Given the description of an element on the screen output the (x, y) to click on. 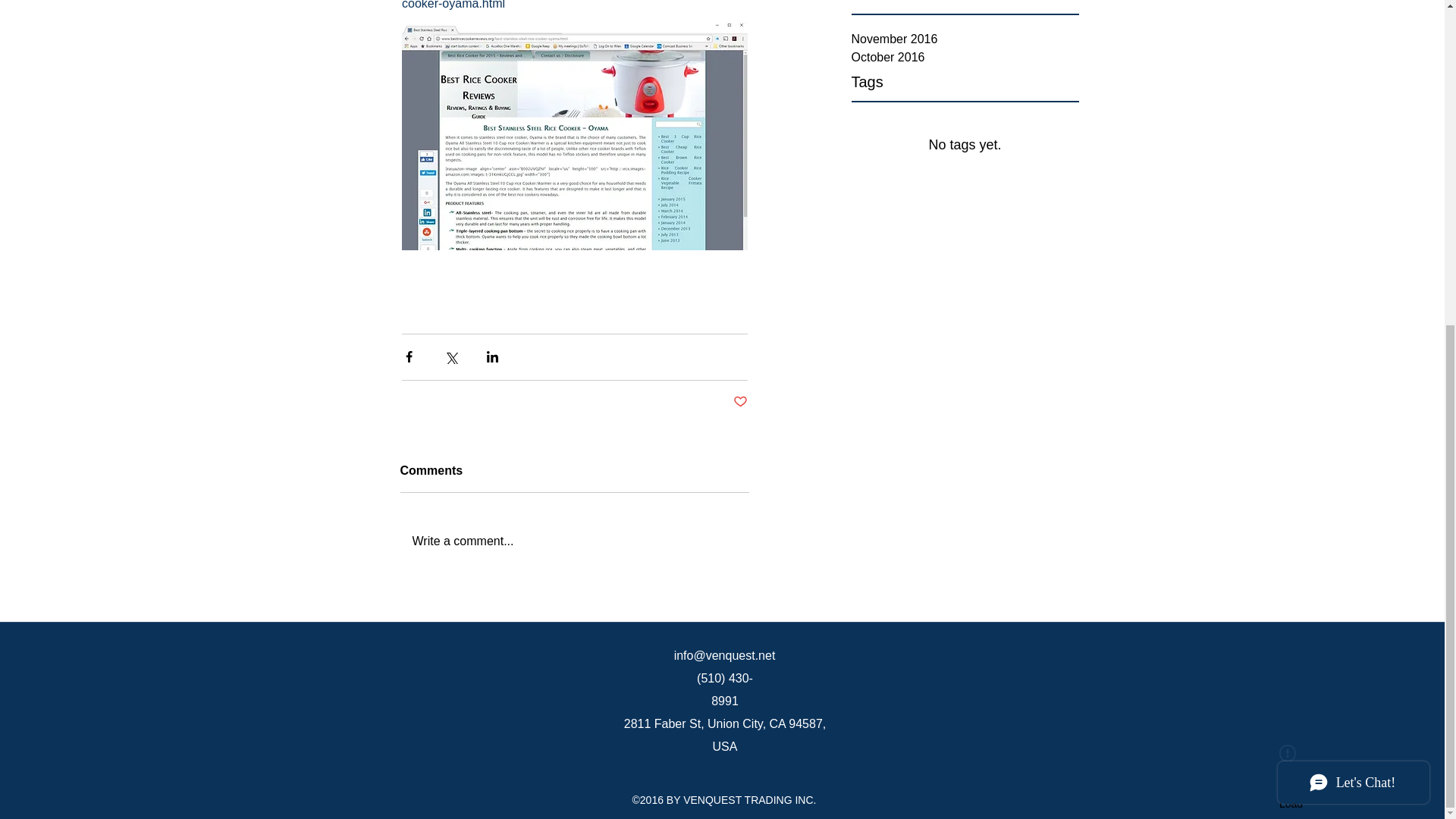
October 2016 (964, 57)
November 2016 (964, 39)
